Given the description of an element on the screen output the (x, y) to click on. 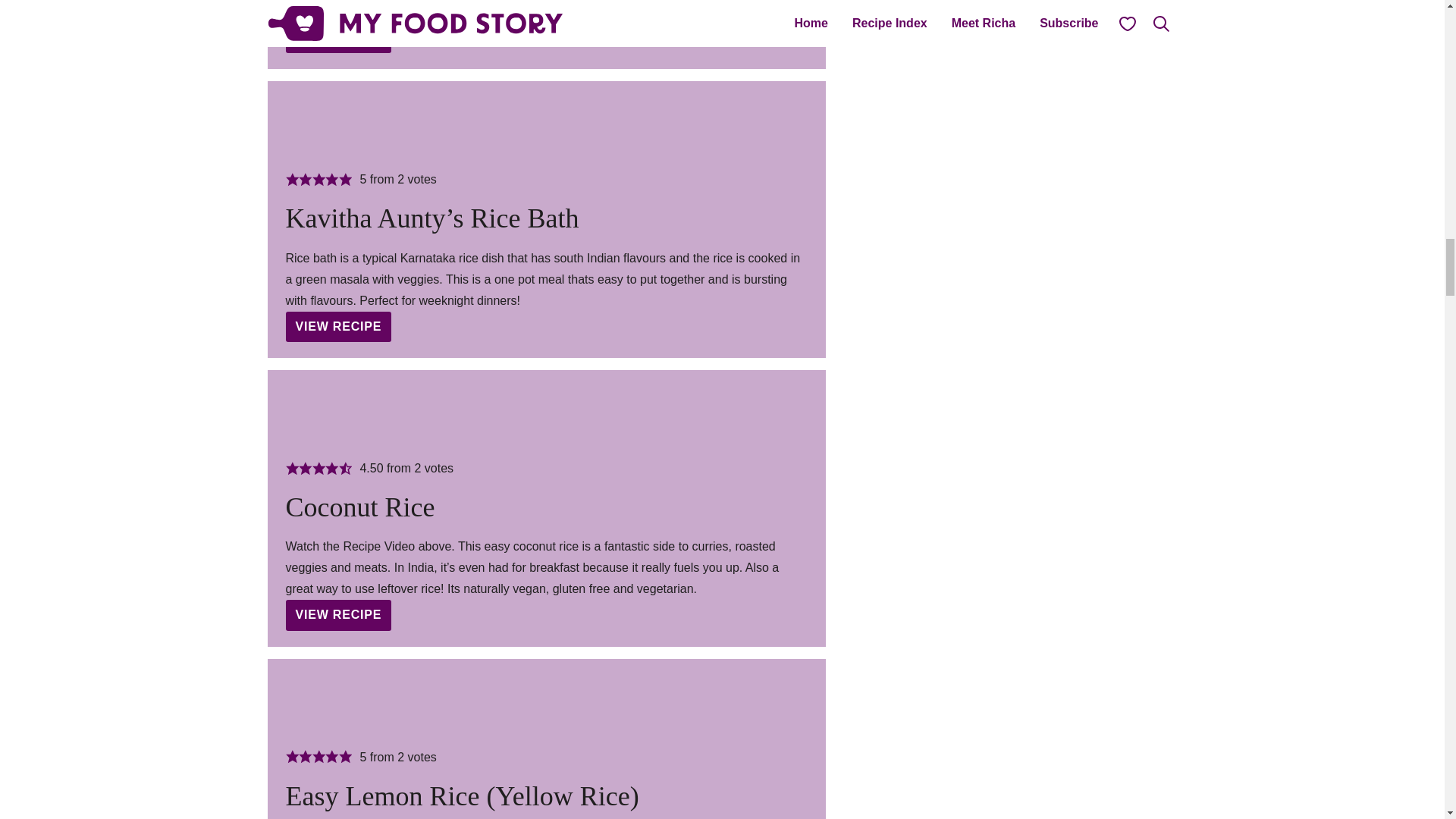
VIEW RECIPE (338, 327)
VIEW RECIPE (338, 37)
VIEW RECIPE (338, 614)
